Given the description of an element on the screen output the (x, y) to click on. 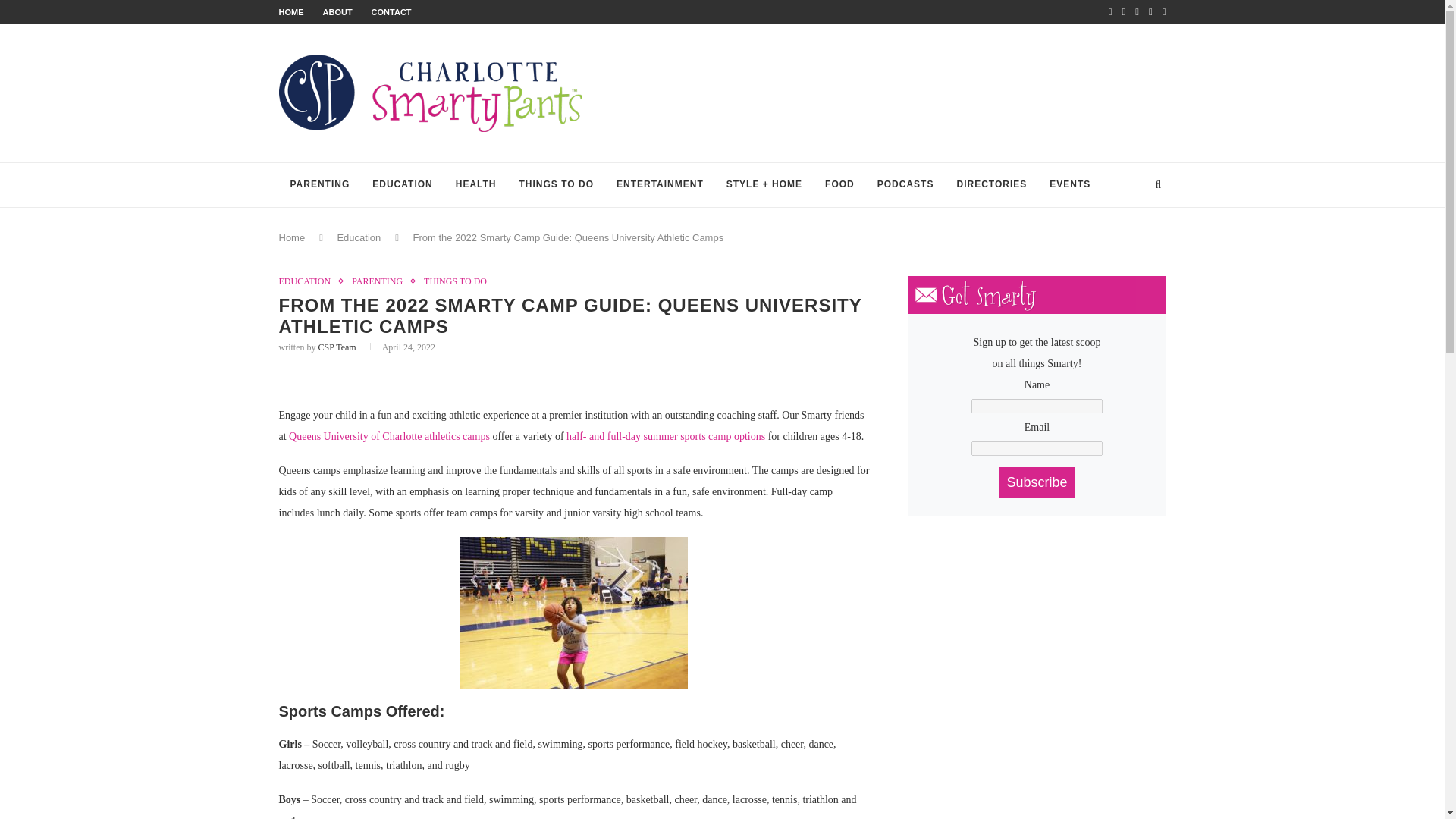
PARENTING (381, 281)
DIRECTORIES (991, 185)
PODCASTS (905, 185)
Home (292, 237)
PARENTING (320, 185)
EVENTS (1070, 185)
FOOD (839, 185)
HEALTH (476, 185)
Education (358, 237)
ENTERTAINMENT (659, 185)
